Given the description of an element on the screen output the (x, y) to click on. 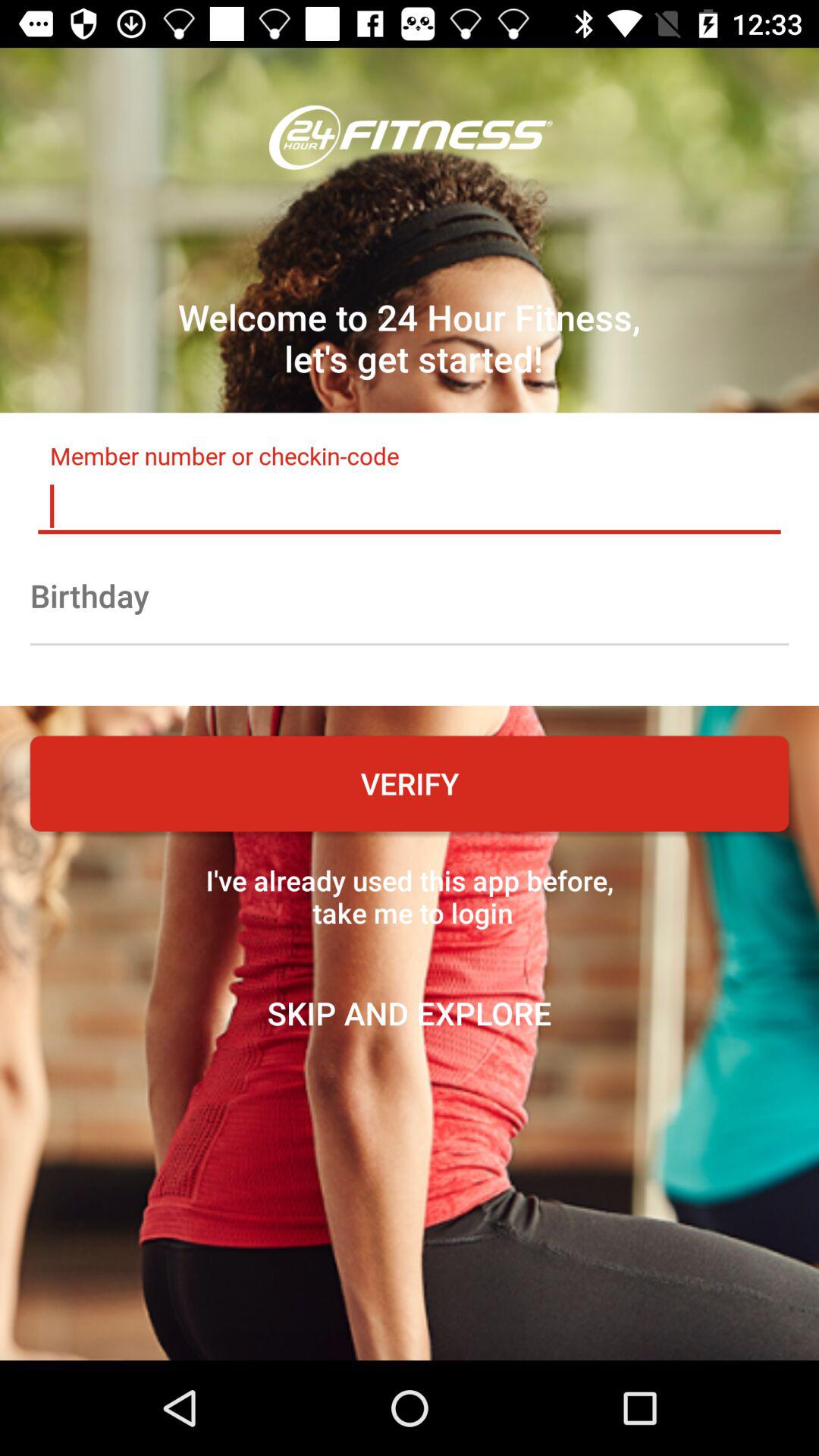
search the article (409, 505)
